Given the description of an element on the screen output the (x, y) to click on. 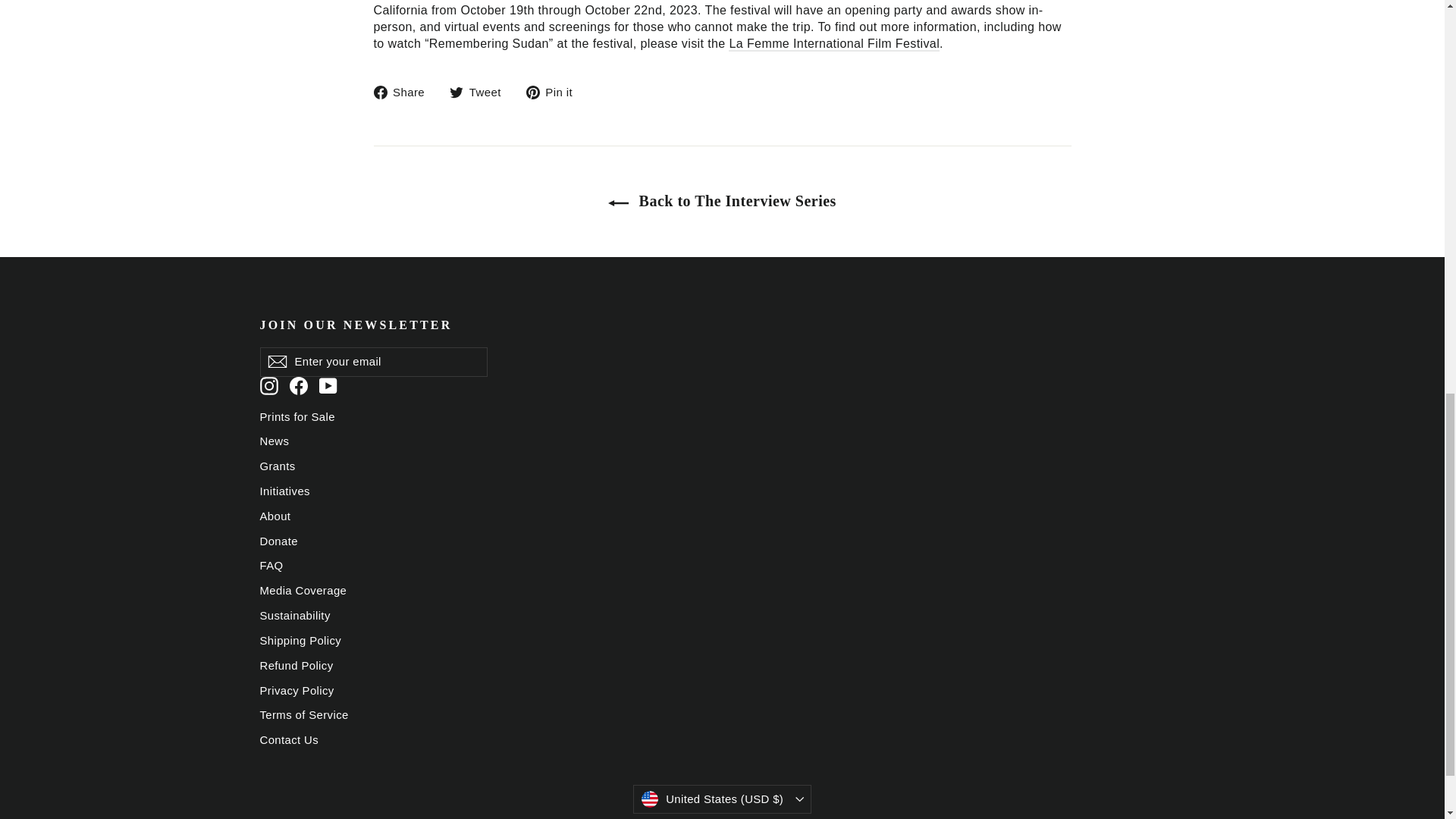
Share on Facebook (403, 91)
Tweet on Twitter (480, 91)
Pin on Pinterest (554, 91)
Vital Impacts on Instagram (268, 385)
Vital Impacts on YouTube (327, 385)
Vital Impacts on Facebook (298, 385)
